Given the description of an element on the screen output the (x, y) to click on. 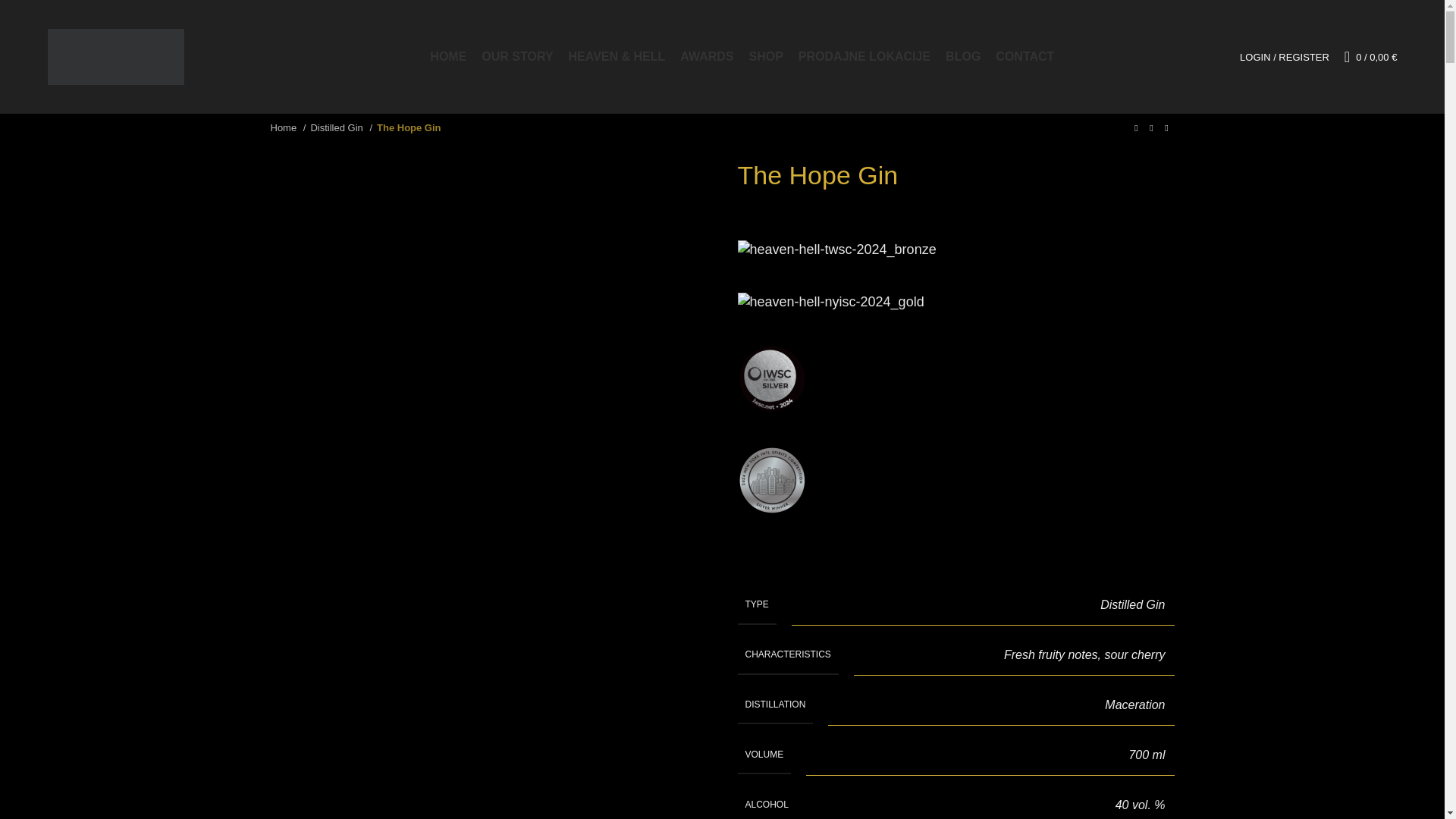
My account (1283, 56)
PRODAJNE LOKACIJE (863, 56)
SHOP (766, 56)
AWARDS (706, 56)
Distilled Gin (341, 128)
OUR STORY (517, 56)
Shopping cart (1370, 56)
HOME (447, 56)
BLOG (961, 56)
CONTACT (1024, 56)
Home (287, 128)
